Given the description of an element on the screen output the (x, y) to click on. 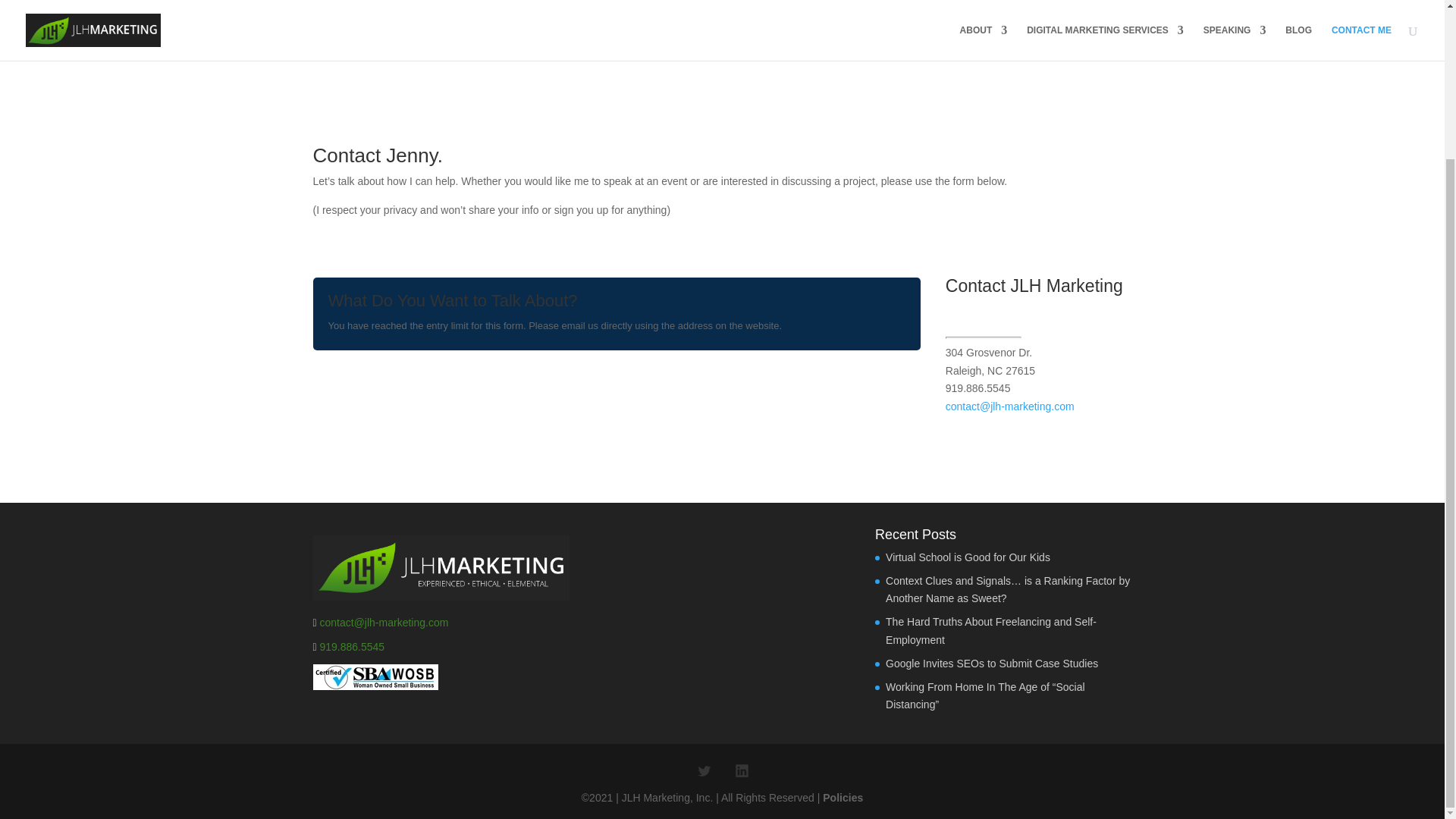
The Hard Truths About Freelancing and Self-Employment (990, 630)
Google Invites SEOs to Submit Case Studies (991, 663)
Virtual School is Good for Our Kids (967, 557)
919.886.5545 (352, 646)
